Given the description of an element on the screen output the (x, y) to click on. 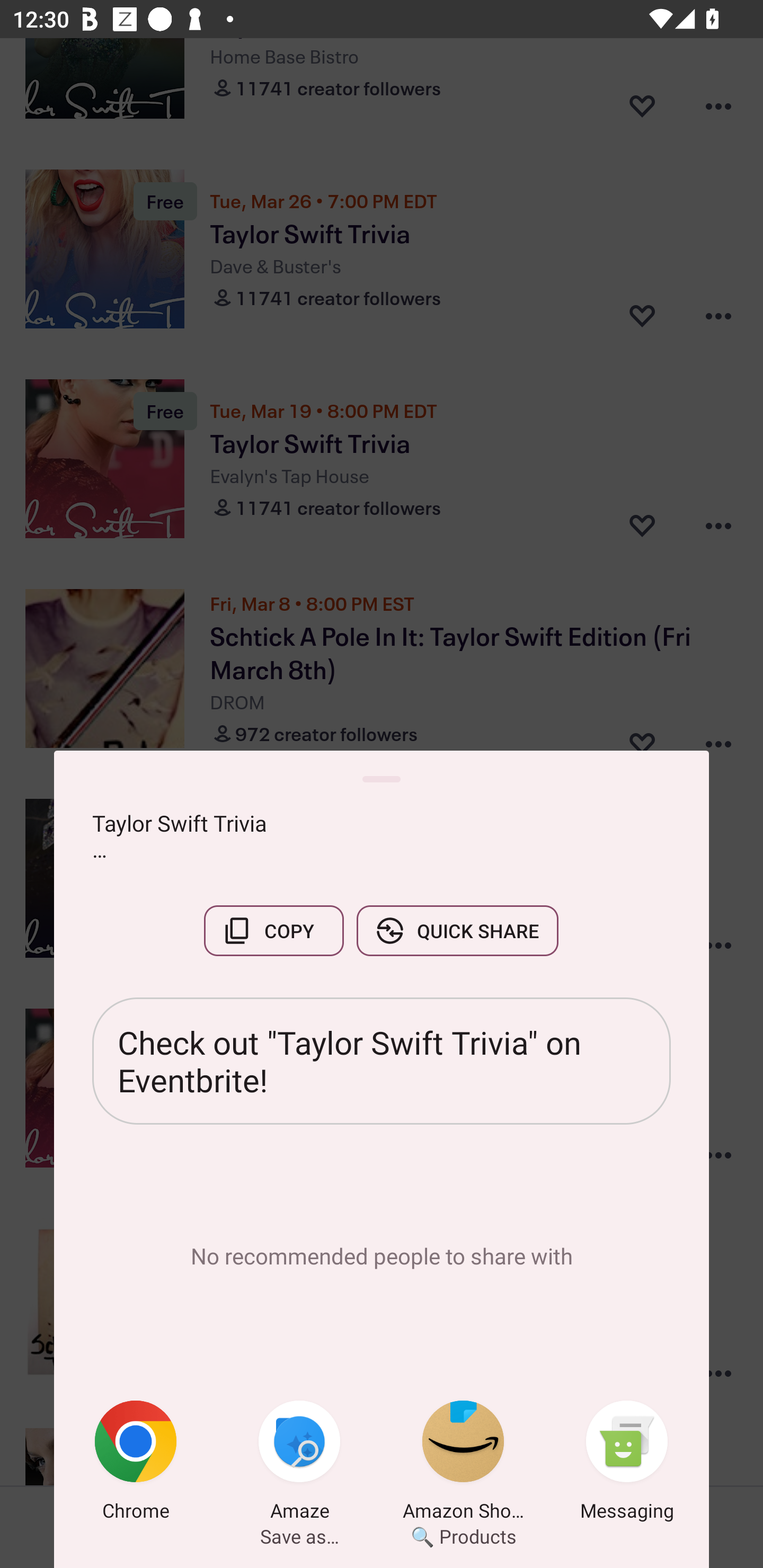
COPY (273, 930)
QUICK SHARE (457, 930)
Chrome (135, 1463)
Amaze Save as… (299, 1463)
Amazon Shopping 🔍 Products (463, 1463)
Messaging (626, 1463)
